Given the description of an element on the screen output the (x, y) to click on. 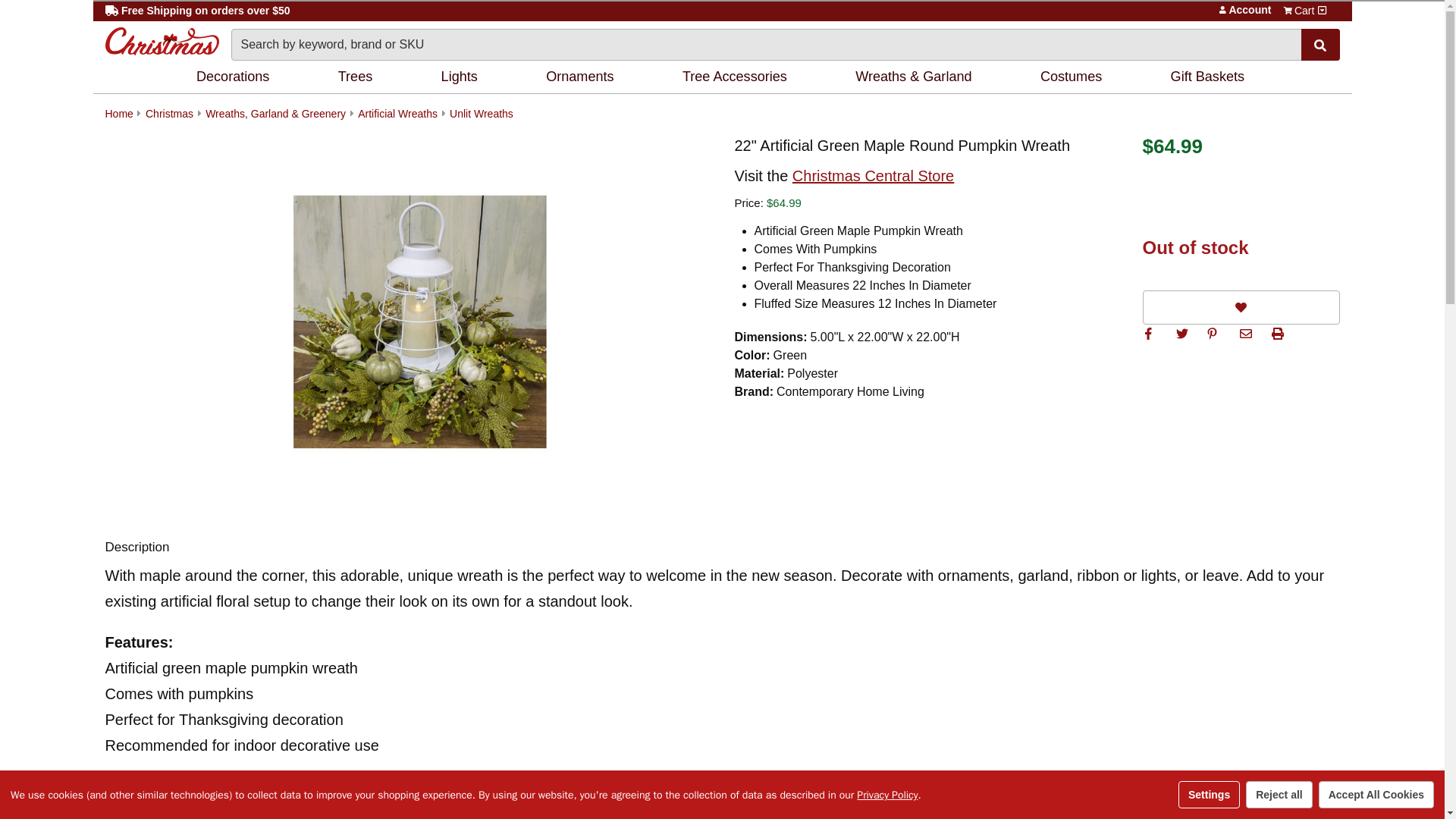
Account (1222, 9)
Decorations (234, 76)
Account (1222, 9)
